Given the description of an element on the screen output the (x, y) to click on. 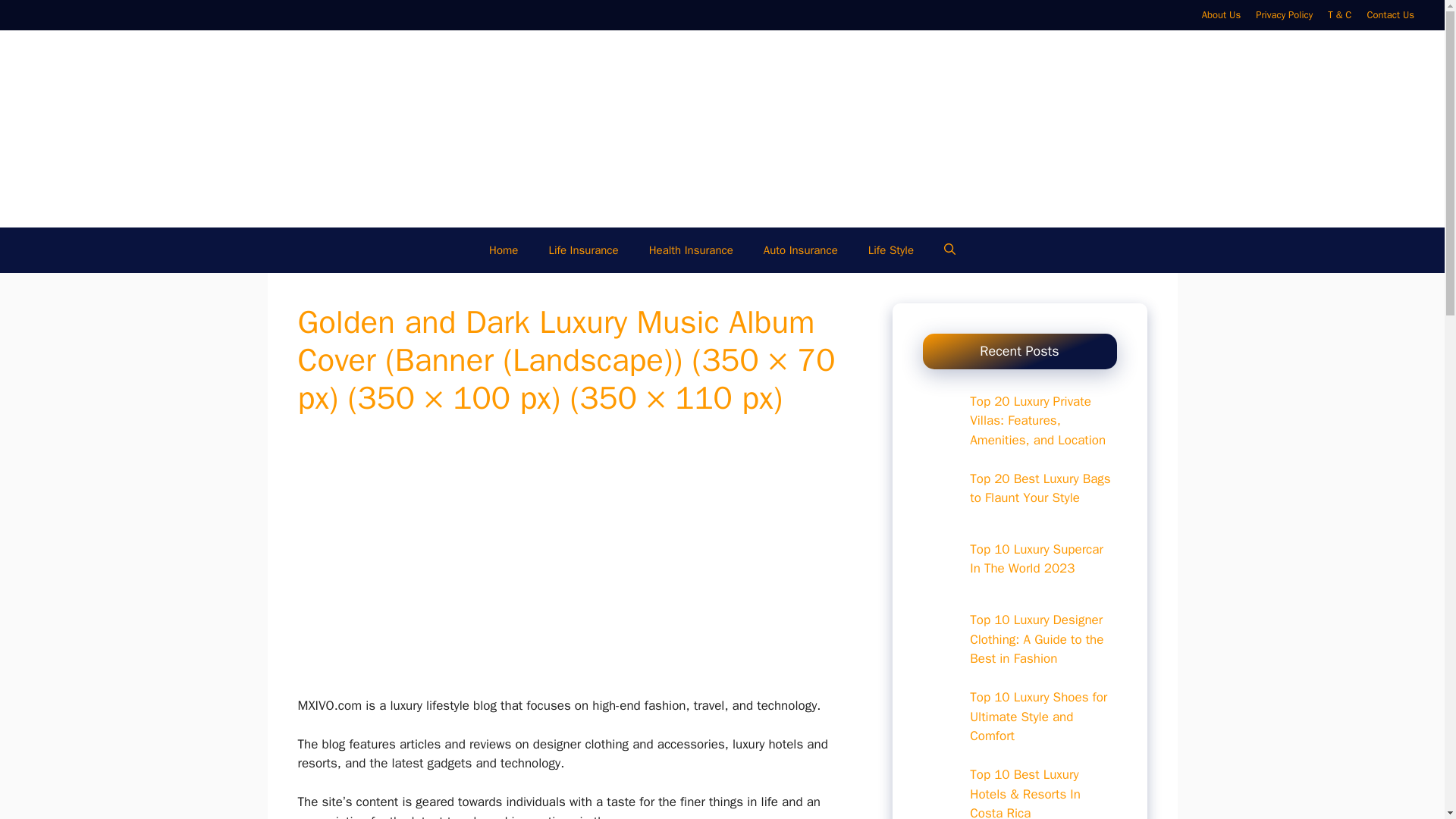
Top 10 Luxury Supercar In The World 2023 (1036, 559)
Health Insurance (690, 249)
Contact Us (1390, 14)
Auto Insurance (800, 249)
Privacy Policy (1284, 14)
Top 20 Best Luxury Bags to Flaunt Your Style (1039, 488)
Life Style (890, 249)
Top 10 Luxury Shoes for Ultimate Style and Comfort (1037, 716)
